Given the description of an element on the screen output the (x, y) to click on. 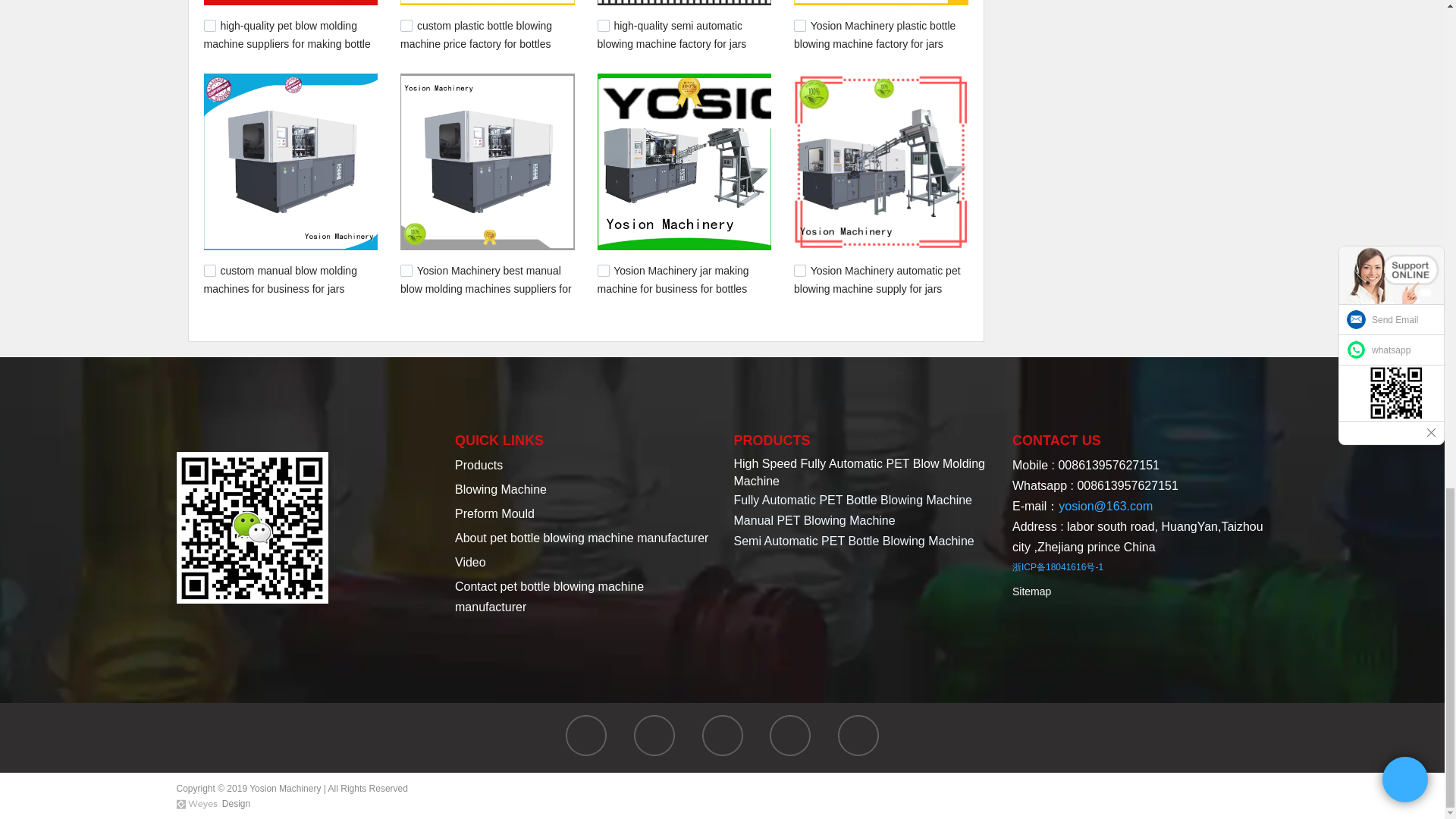
custom manual blow molding machines for business for jars (279, 279)
1539 (209, 25)
1329 (799, 25)
1193 (799, 270)
1290 (209, 270)
1259 (406, 270)
